Given the description of an element on the screen output the (x, y) to click on. 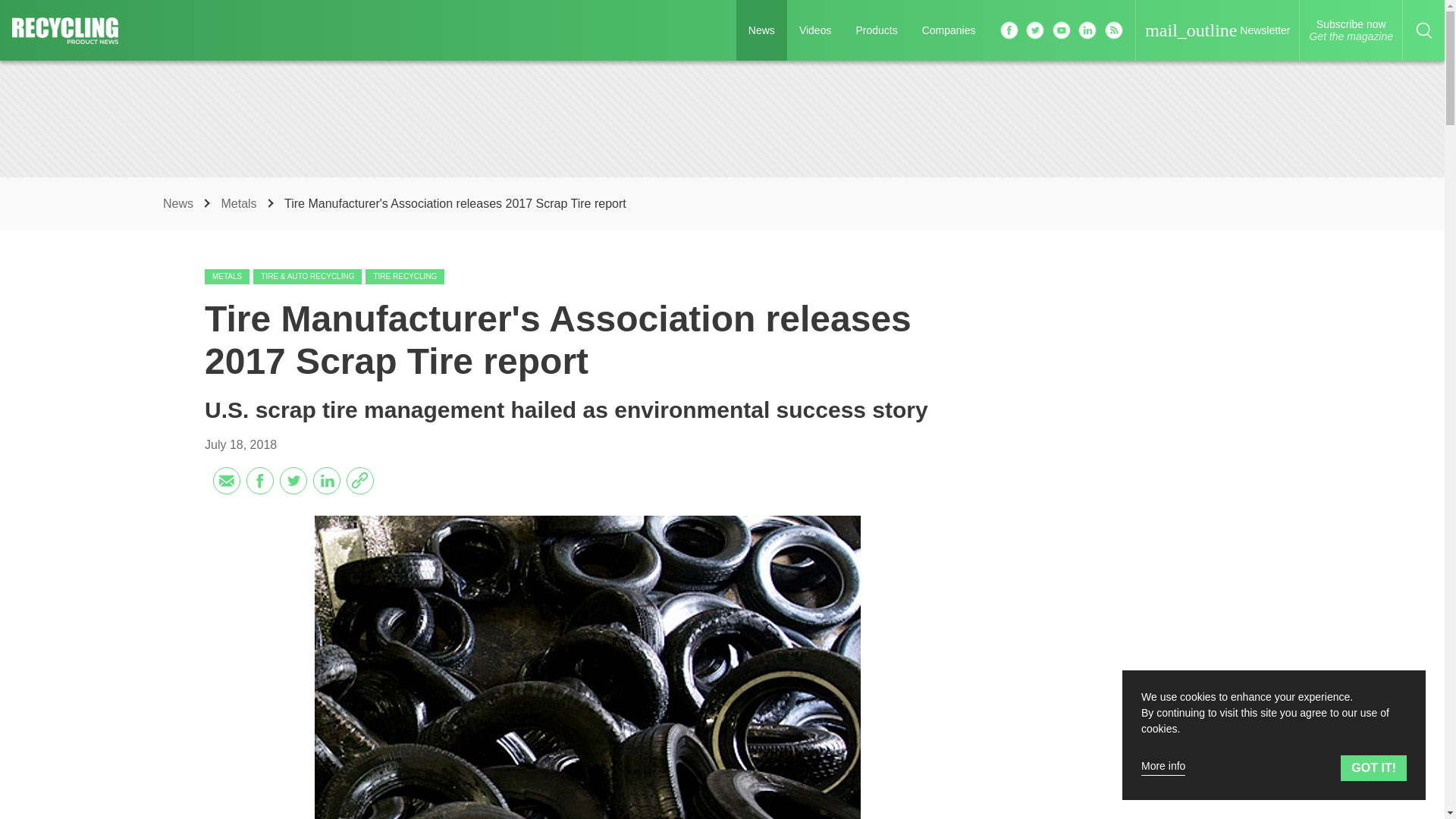
3rd party ad content (1351, 30)
3rd party ad content (1125, 495)
News (721, 119)
METALS (761, 30)
Videos (226, 276)
Products (815, 30)
Companies (875, 30)
TIRE RECYCLING (949, 30)
News (404, 276)
3rd party ad content (179, 203)
Metals (1125, 782)
